Given the description of an element on the screen output the (x, y) to click on. 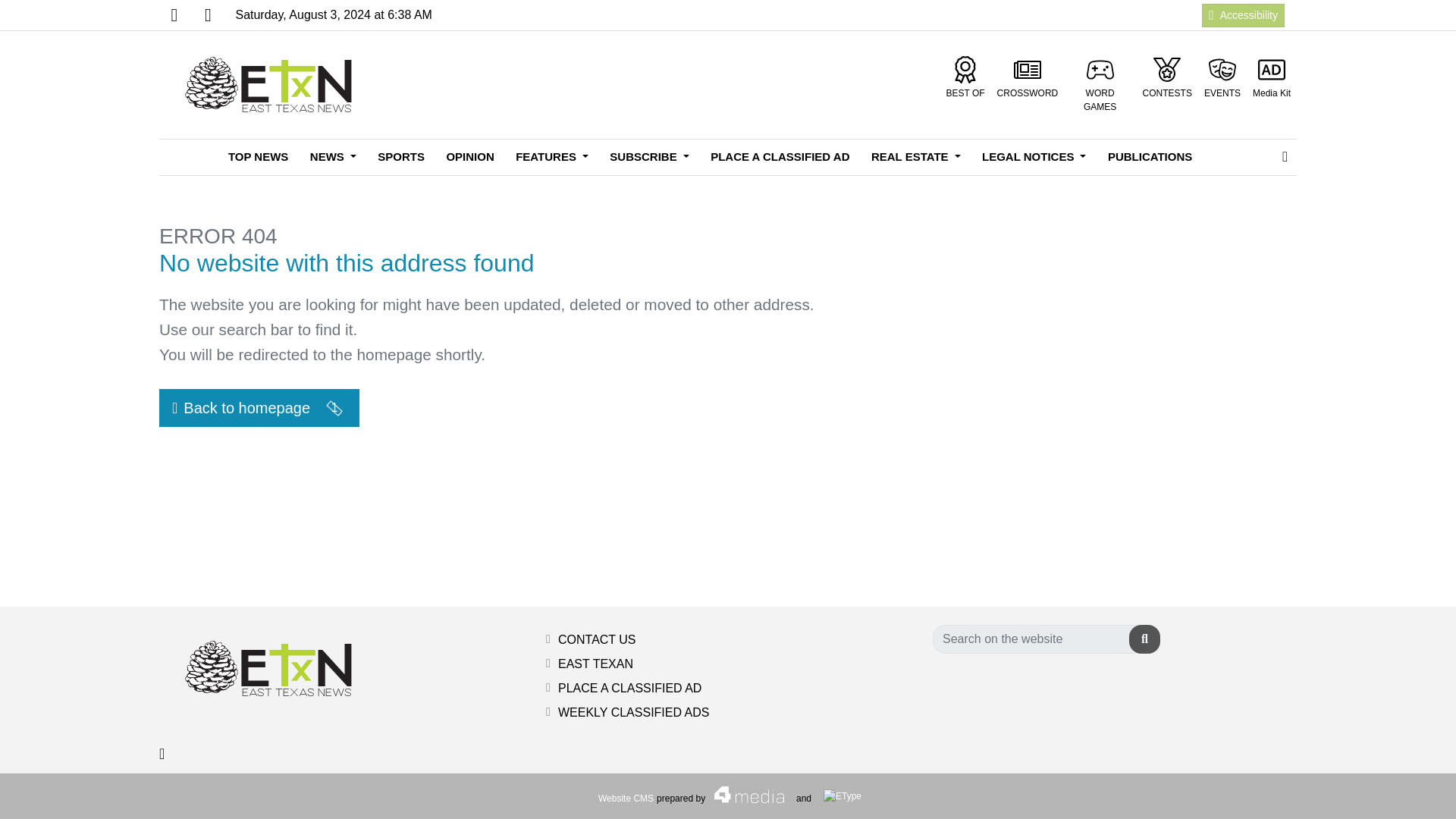
SPORTS (400, 157)
CONTESTS (1167, 77)
OPINION (469, 157)
CROSSWORDS (1027, 77)
CROSSWORDS (1027, 77)
Accessibility (1243, 14)
WORD GAMES (1100, 84)
www.etypeservices.com (842, 795)
Go to homepage (272, 85)
TOP NEWS (258, 157)
